Given the description of an element on the screen output the (x, y) to click on. 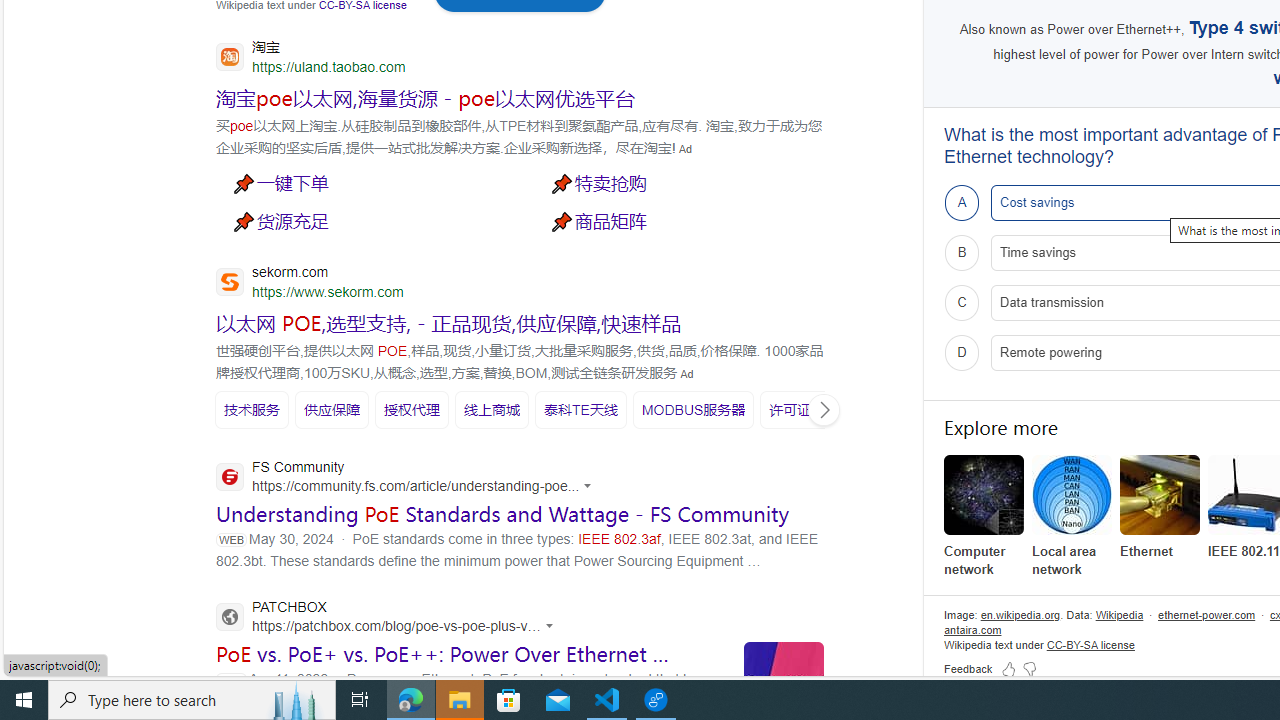
SERP,5928 (412, 409)
SERP,5931 (693, 409)
SERP,5926 (252, 409)
SERP,5920 (683, 220)
SERP,5918 (683, 182)
Feedback Like (1008, 668)
SERP,5914 (425, 97)
SERP,5931 (693, 409)
Explore more Ethernet (1160, 507)
Data attribution Wikipedia (1119, 614)
CC-BY-SA license (1090, 644)
Ethernet (1160, 507)
Data attribution antaira.com (973, 629)
Actions for this site (552, 625)
